Given the description of an element on the screen output the (x, y) to click on. 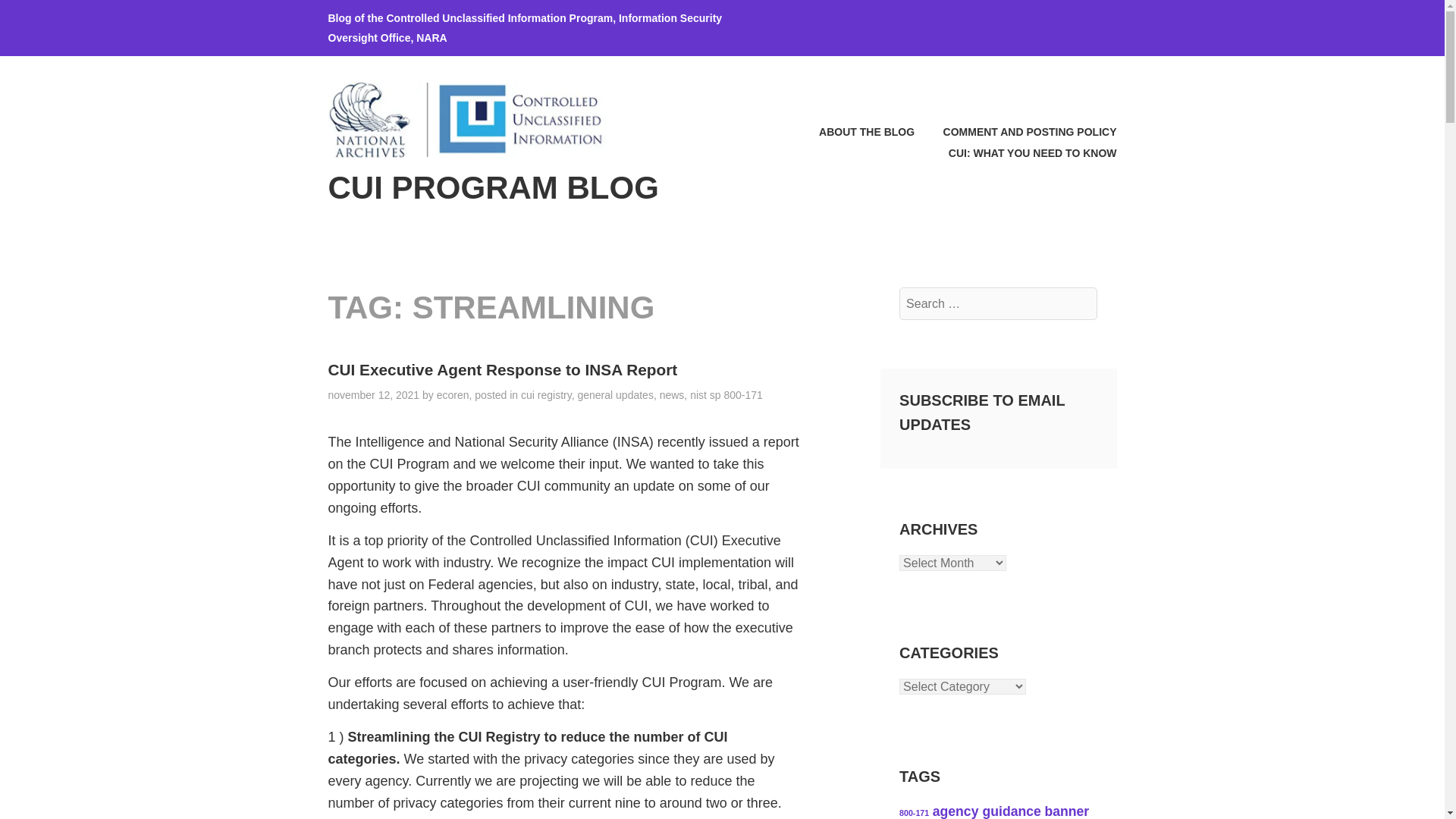
cui registry (546, 395)
CUI: WHAT YOU NEED TO KNOW (1019, 152)
CUI PROGRAM BLOG (492, 187)
general updates (614, 395)
ecoren (452, 395)
news (671, 395)
banner markings (994, 811)
COMMENT AND POSTING POLICY (1016, 131)
agency guidance (987, 811)
Search (48, 17)
november 12, 2021 (373, 395)
800-171 (913, 812)
nist sp 800-171 (726, 395)
CUI Executive Agent Response to INSA Report (502, 369)
ABOUT THE BLOG (853, 131)
